Given the description of an element on the screen output the (x, y) to click on. 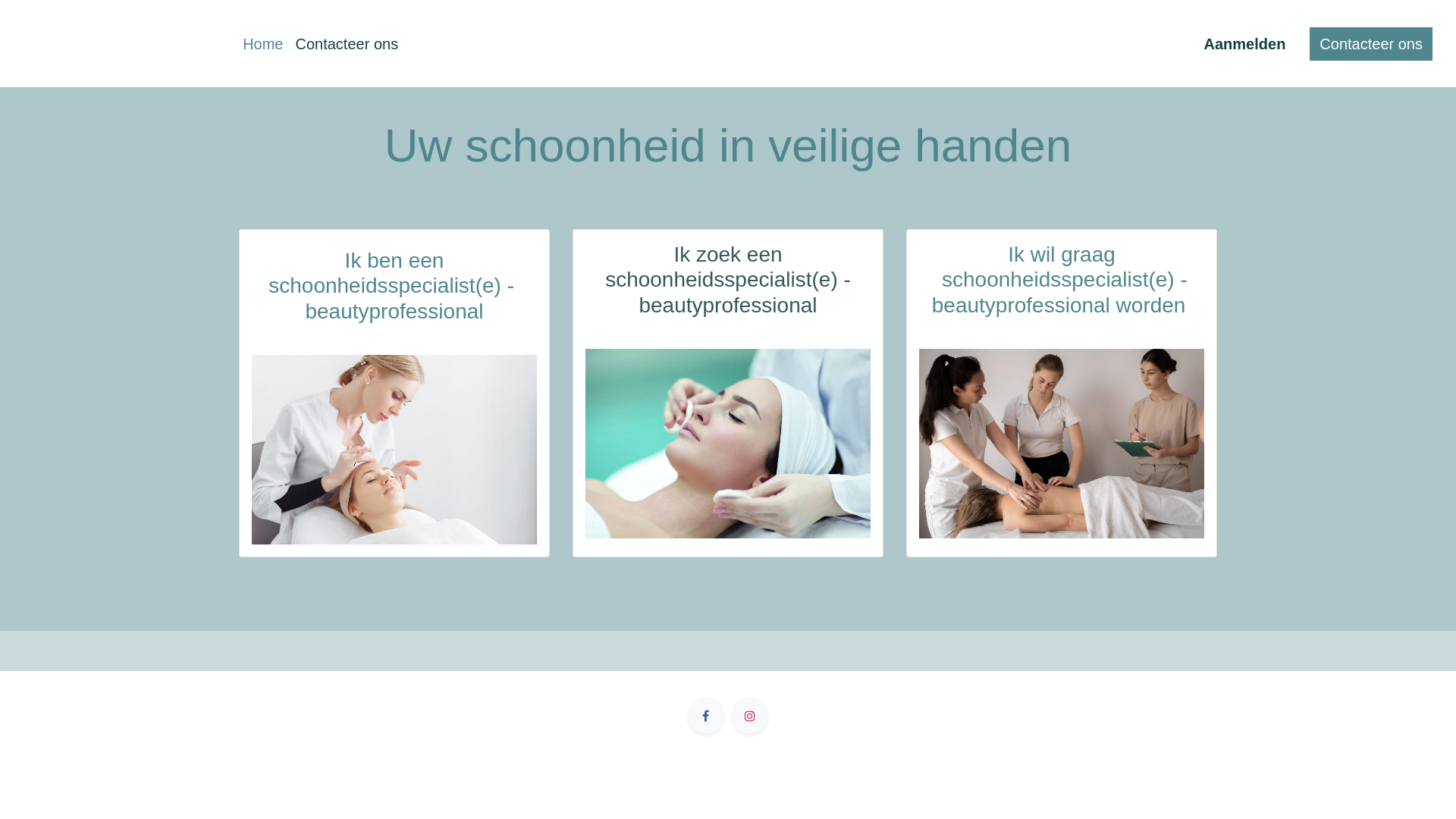
Home Element type: text (262, 43)
Contacteer ons Element type: text (346, 43)
Contacteer ons Element type: text (1370, 43)
Ik ben een schoonheidsspecialist(e) -  beautyprofessional Element type: text (393, 285)
Besko Element type: hover (120, 43)
Aanmelden Element type: text (1245, 43)
Ik zoek een schoonheidsspecialist(e) - beautyprofessional Element type: text (727, 279)
